Given the description of an element on the screen output the (x, y) to click on. 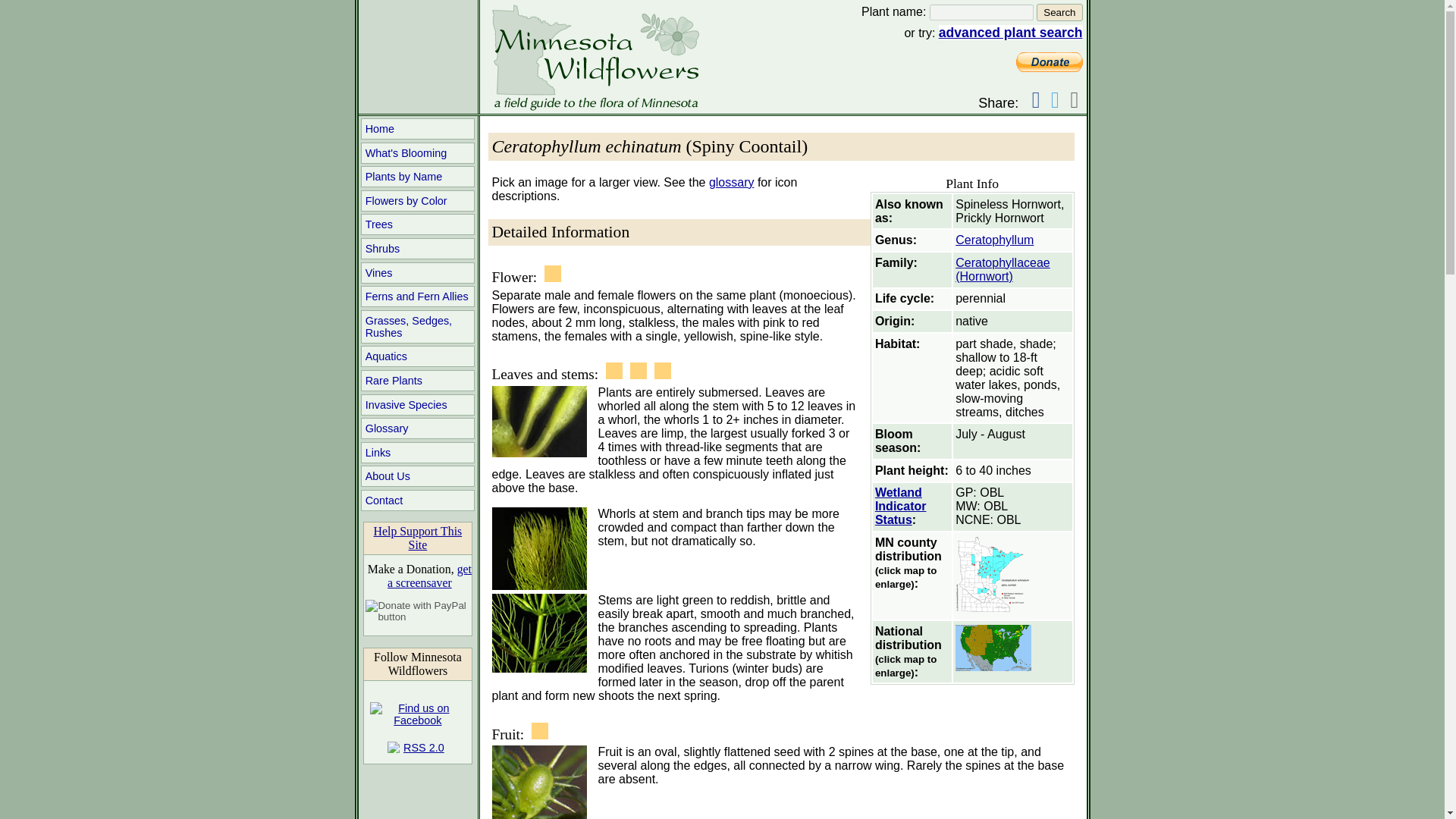
Leaf type: simple (662, 370)
Plants by Name (417, 176)
Leaf attachment: whorl (614, 370)
advanced plant search (1011, 32)
Flowers by Color (417, 200)
glossary (731, 182)
Home (417, 128)
Wetland Indicator Status (900, 506)
Flower shape: indistinct (552, 273)
Fruit type: seed without plume (539, 730)
